Given the description of an element on the screen output the (x, y) to click on. 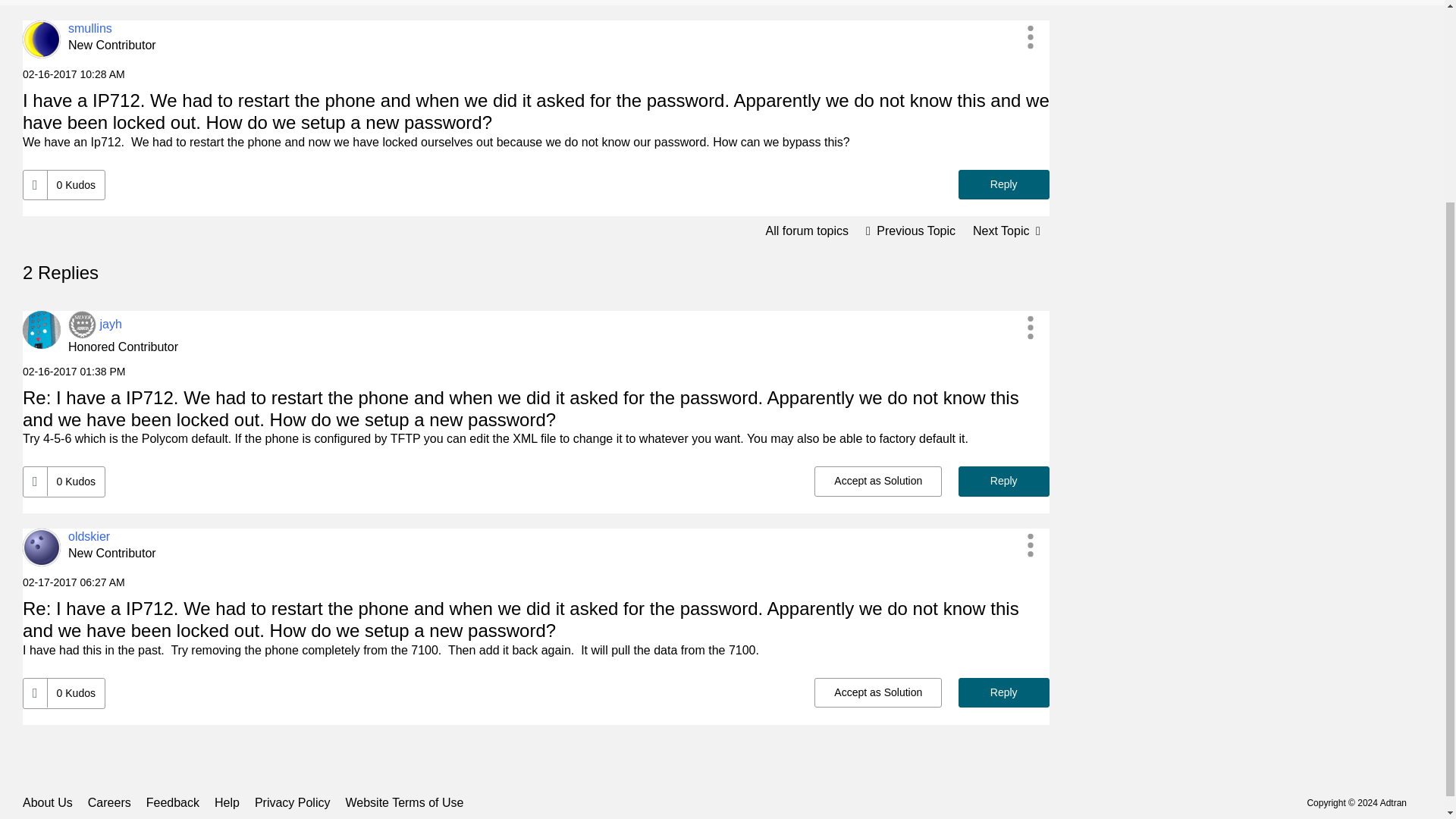
Next Topic (1006, 230)
The total number of kudos this post has received. (75, 184)
Previous Topic (910, 230)
Click here to give kudos to this post. (34, 184)
All forum topics (807, 230)
Reply (1003, 184)
Show option menu (1030, 37)
smullins (42, 39)
jayh (109, 323)
Posted on (536, 74)
IP Phones (807, 230)
smullins (90, 28)
